Given the description of an element on the screen output the (x, y) to click on. 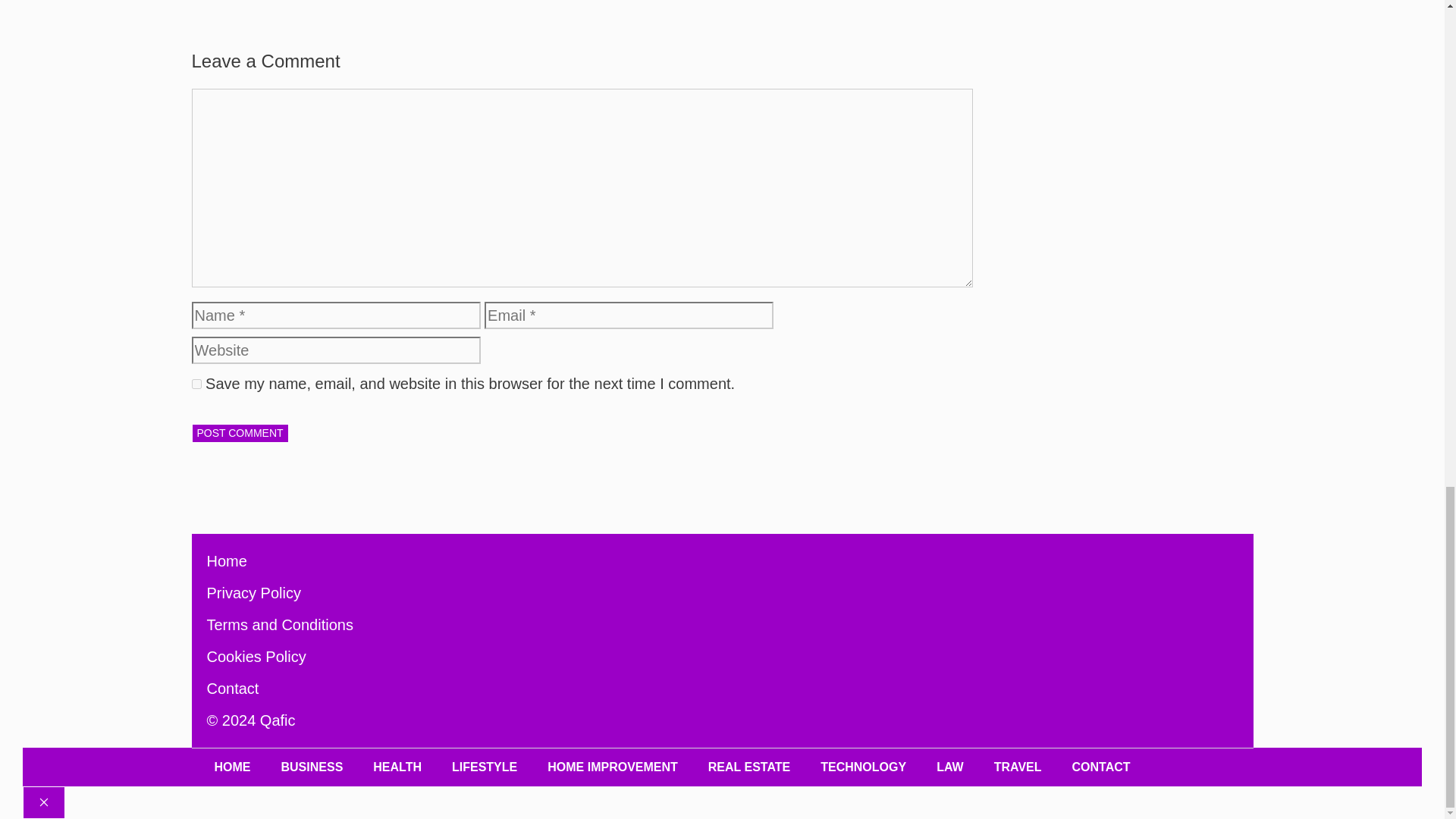
Post Comment (239, 433)
yes (195, 384)
Post Comment (239, 433)
